Given the description of an element on the screen output the (x, y) to click on. 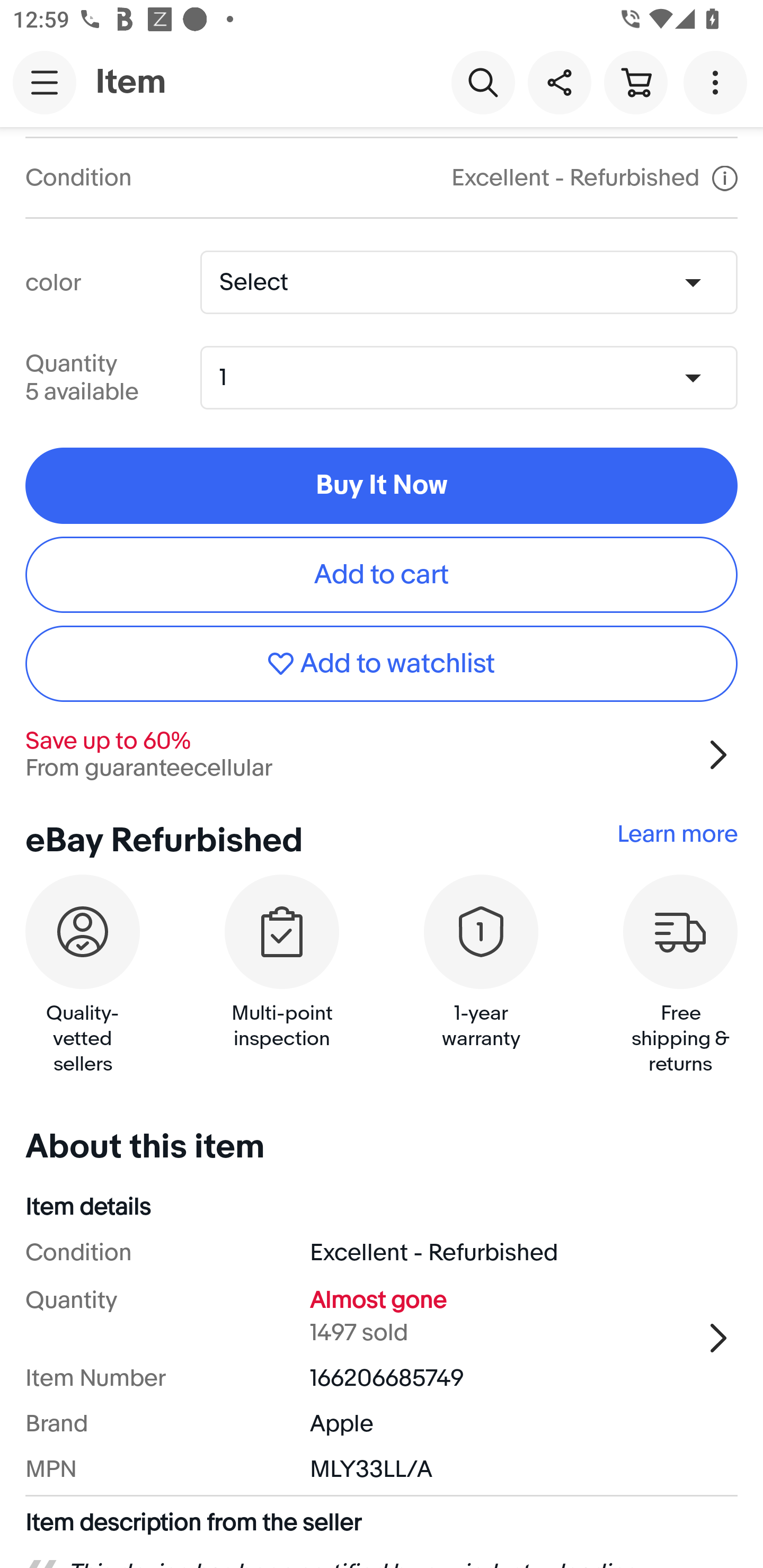
Main navigation, open (44, 82)
Search (482, 81)
Share this item (559, 81)
Cart button shopping cart (635, 81)
More options (718, 81)
color,No selection Select (468, 282)
Quantity,1,5 available 1 (474, 377)
Buy It Now (381, 484)
Add to cart (381, 574)
Add to watchlist (381, 663)
Save up to 60% From guaranteecellular (381, 754)
Learn more (676, 834)
